Given the description of an element on the screen output the (x, y) to click on. 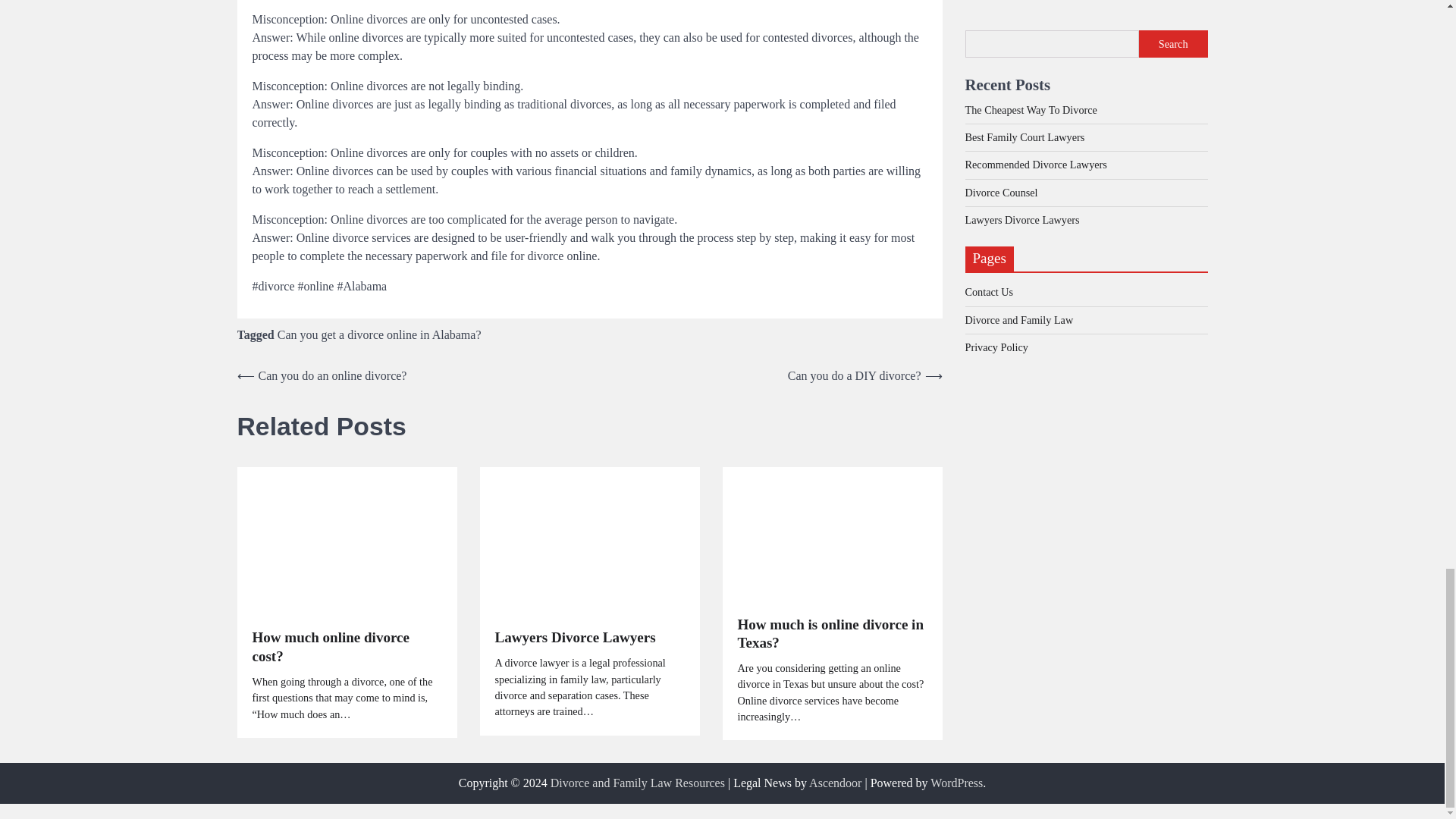
How much is online divorce in Texas? (831, 634)
Lawyers Divorce Lawyers (575, 637)
Divorce and Family Law Resources (637, 782)
How much online divorce cost? (346, 647)
Can you get a divorce online in Alabama? (379, 334)
Ascendoor (835, 782)
WordPress (956, 782)
